Given the description of an element on the screen output the (x, y) to click on. 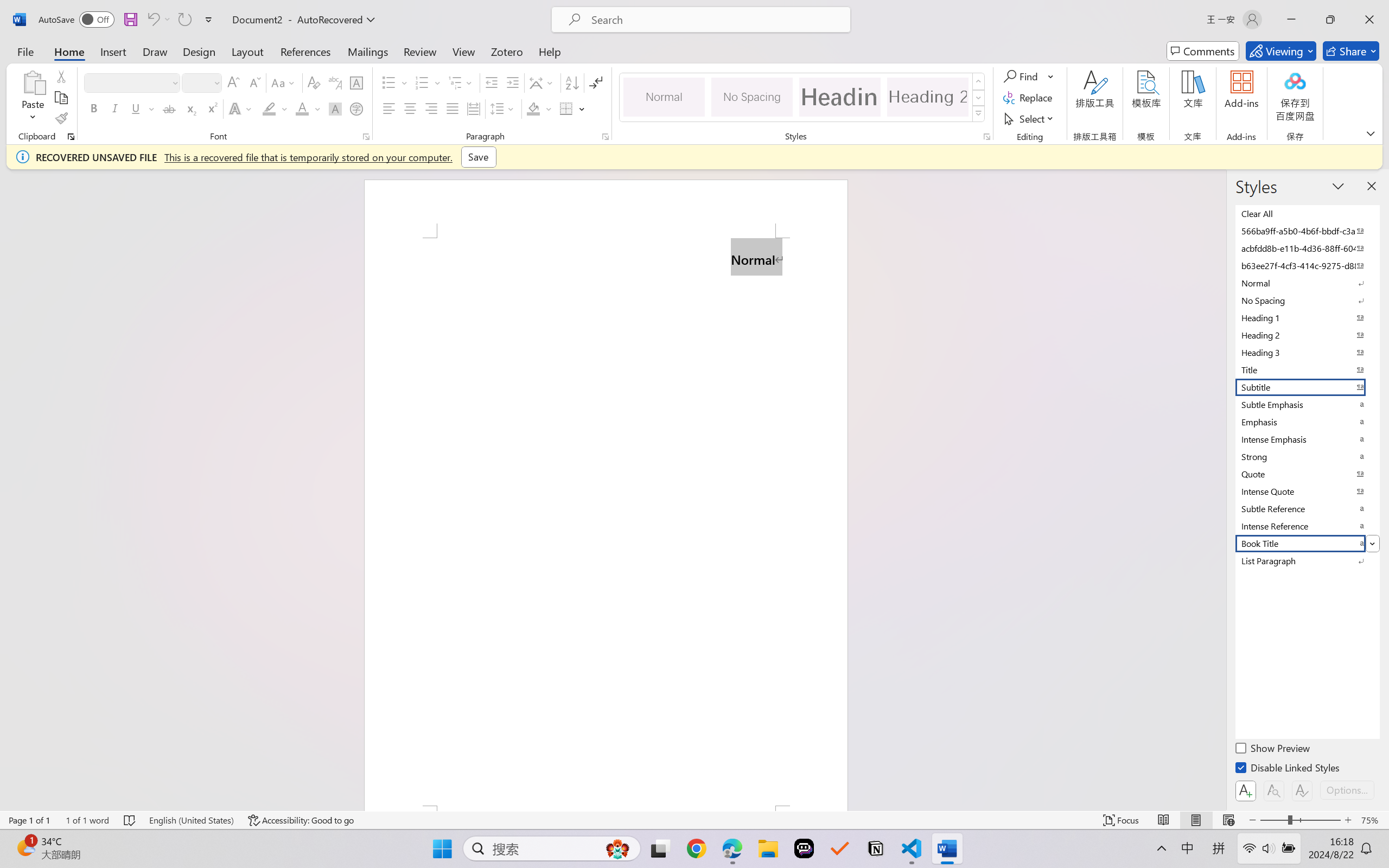
Distributed (473, 108)
Emphasis (1306, 421)
Increase Indent (512, 82)
Center (409, 108)
AutomationID: QuickStylesGallery (802, 97)
Page Number Page 1 of 1 (29, 819)
